Given the description of an element on the screen output the (x, y) to click on. 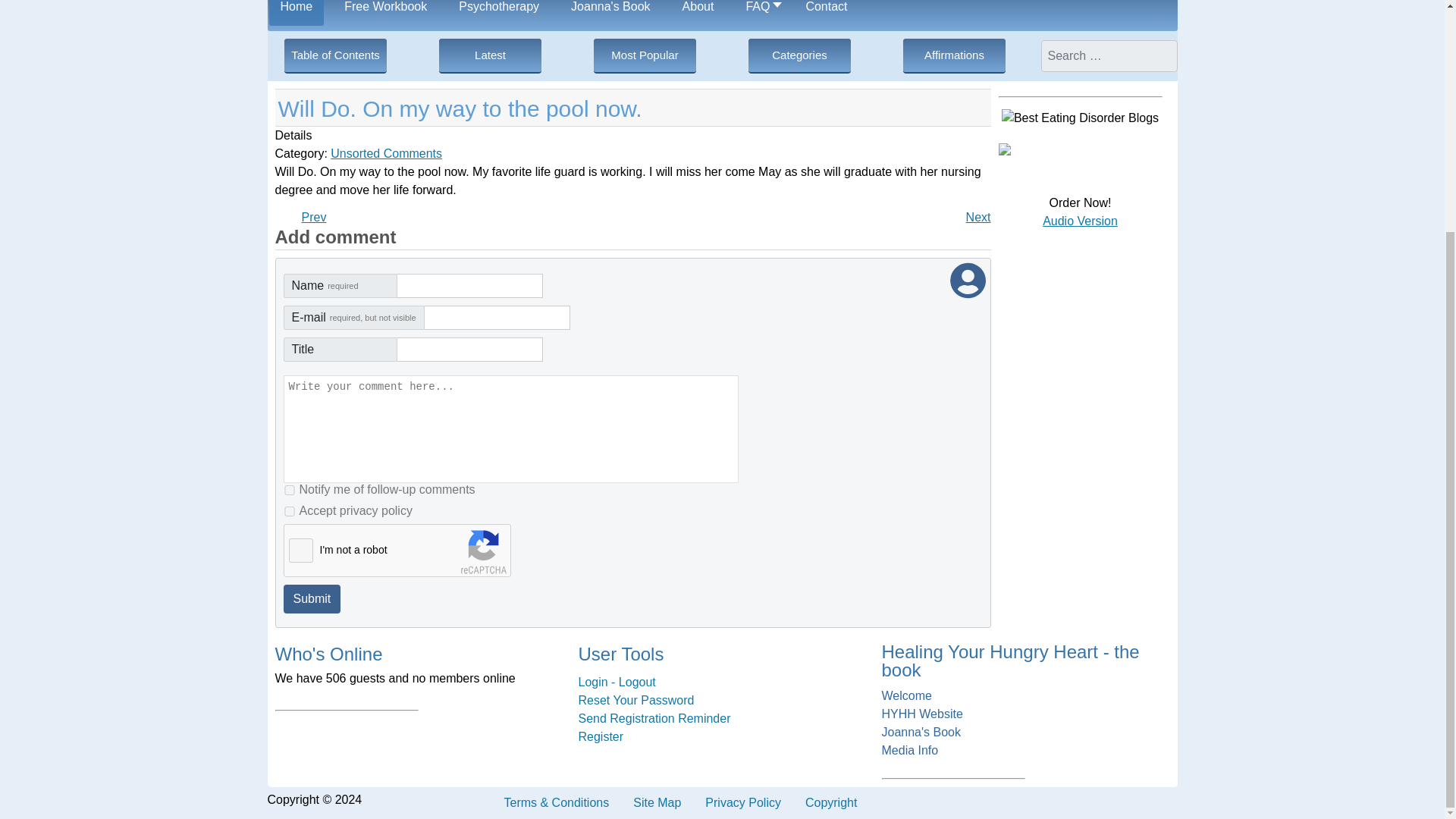
Categories (799, 55)
Latest (490, 55)
1 (289, 489)
HYHH Website (1024, 714)
Next (978, 216)
Joanna's Book (610, 12)
Free Workbook (385, 12)
Send Registration Reminder (722, 719)
Find me on EDReferral.com (1003, 151)
Copyright (830, 802)
Welcome (978, 216)
Unsorted Comments (1024, 696)
Psychotherapy (386, 153)
Home (498, 12)
